Given the description of an element on the screen output the (x, y) to click on. 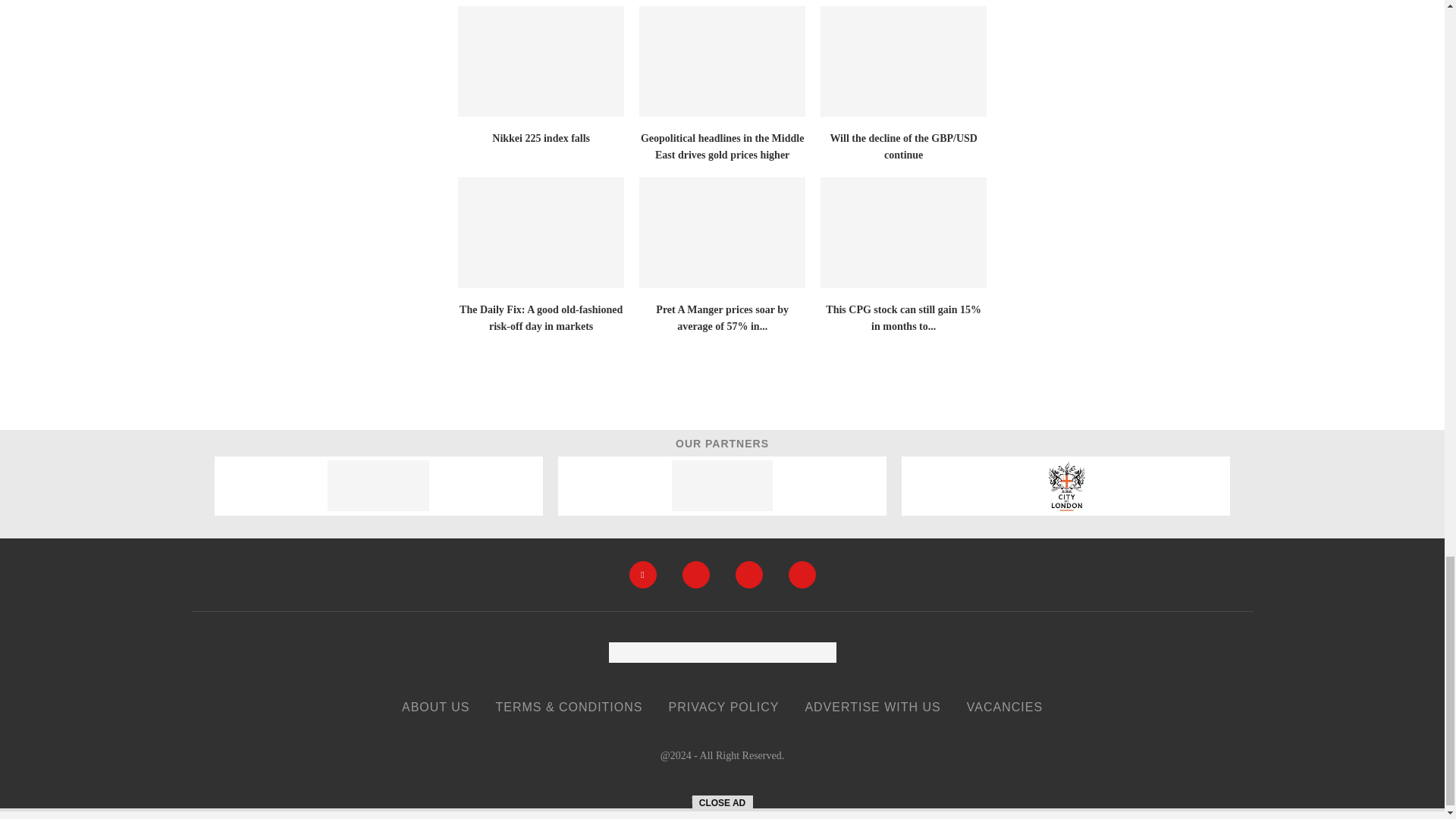
The Daily Fix: A good old-fashioned risk-off day in markets (541, 232)
Nikkei 225 index falls (541, 61)
